Given the description of an element on the screen output the (x, y) to click on. 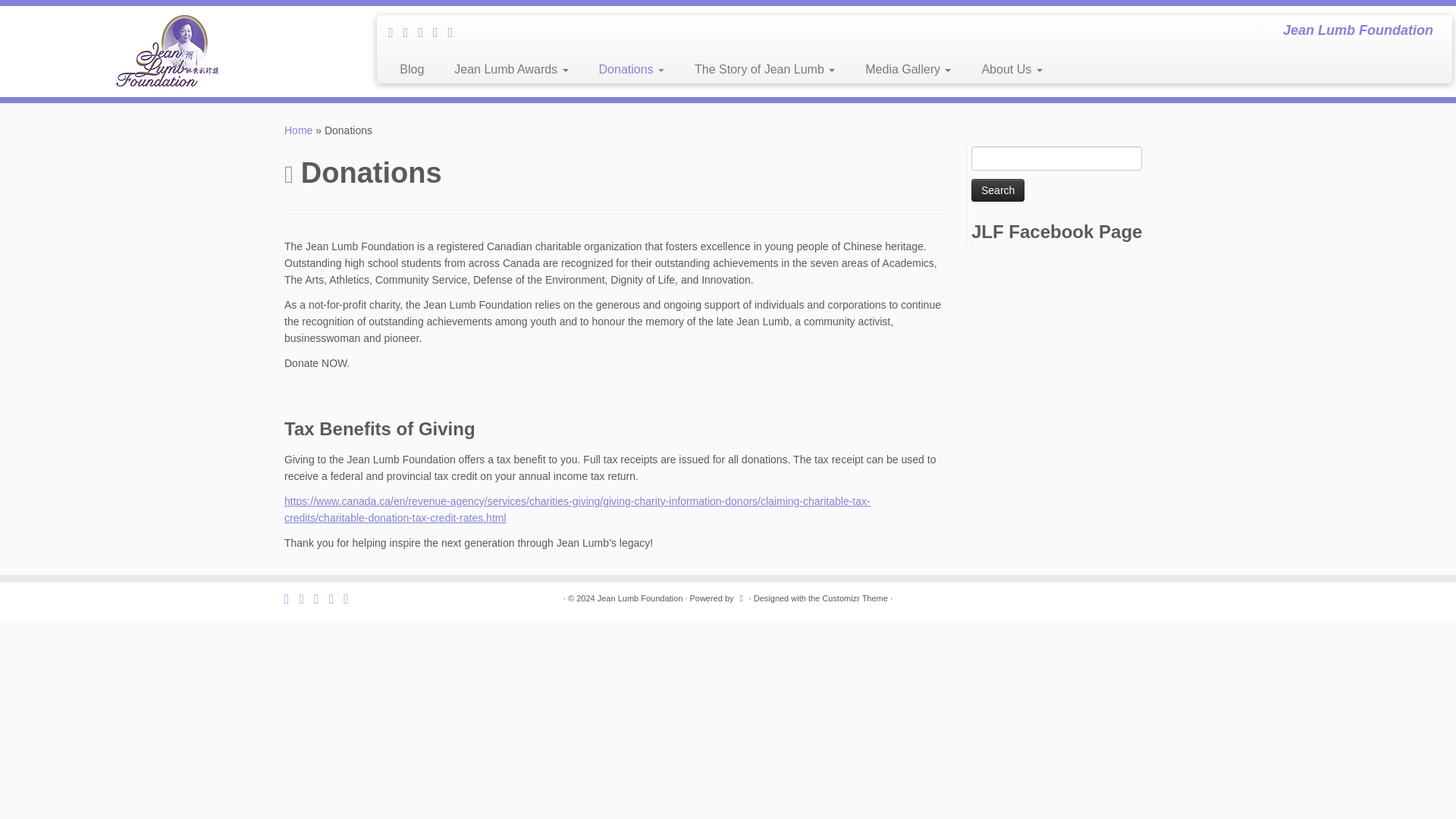
Media Gallery (908, 69)
Follow me on LinkedIn (424, 32)
Search (998, 190)
About Us (1004, 69)
Follow me on Facebook (411, 32)
Search (998, 190)
Follow us on Twitter-square (395, 32)
Follow us on Instagram (440, 32)
Donations (631, 69)
Jean Lumb Foundation (298, 130)
Blog (411, 69)
Follow us on Youtube (455, 32)
The Story of Jean Lumb (764, 69)
Home (298, 130)
Jean Lumb Awards (511, 69)
